Given the description of an element on the screen output the (x, y) to click on. 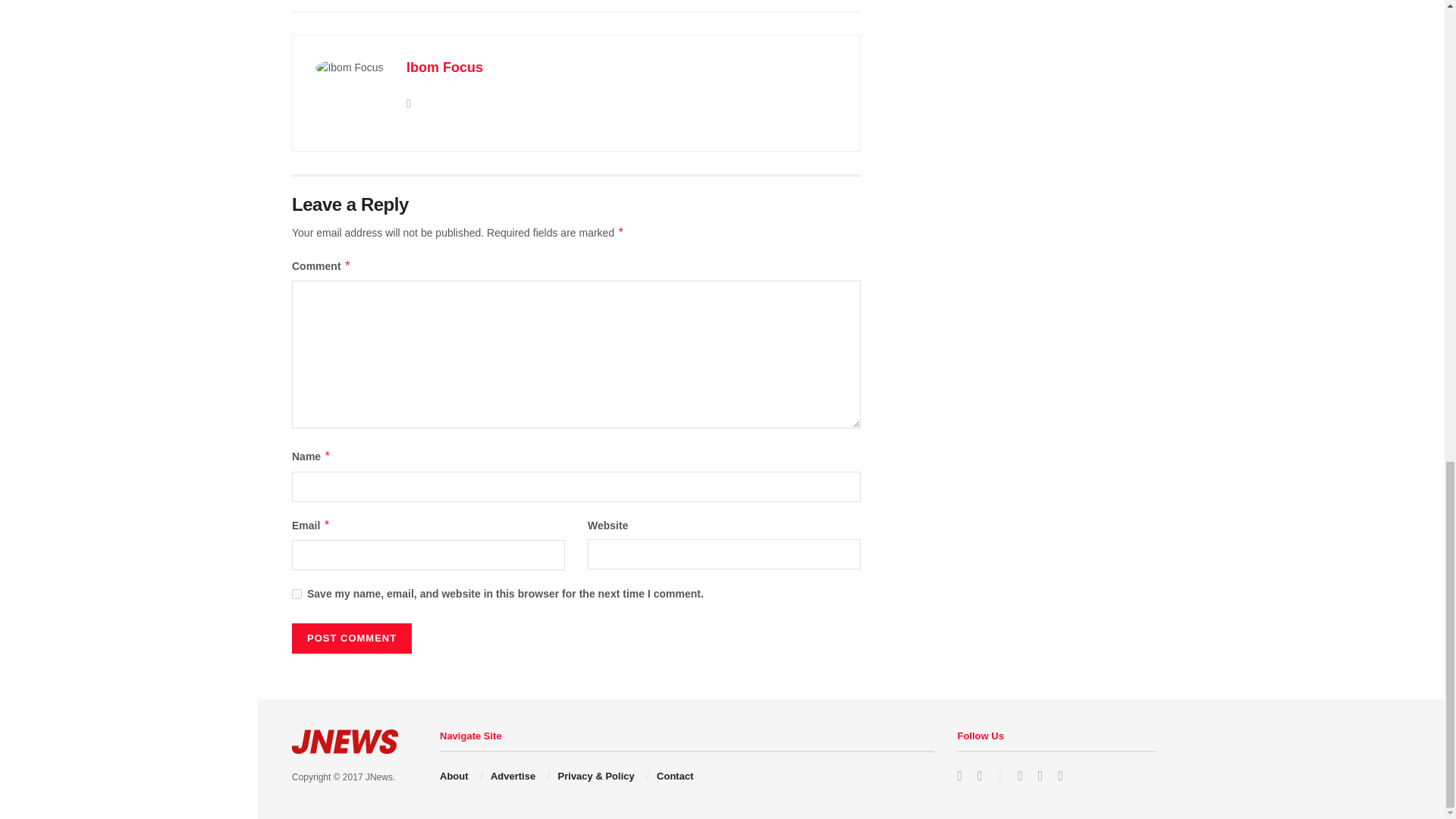
Post Comment (352, 638)
yes (296, 593)
